Given the description of an element on the screen output the (x, y) to click on. 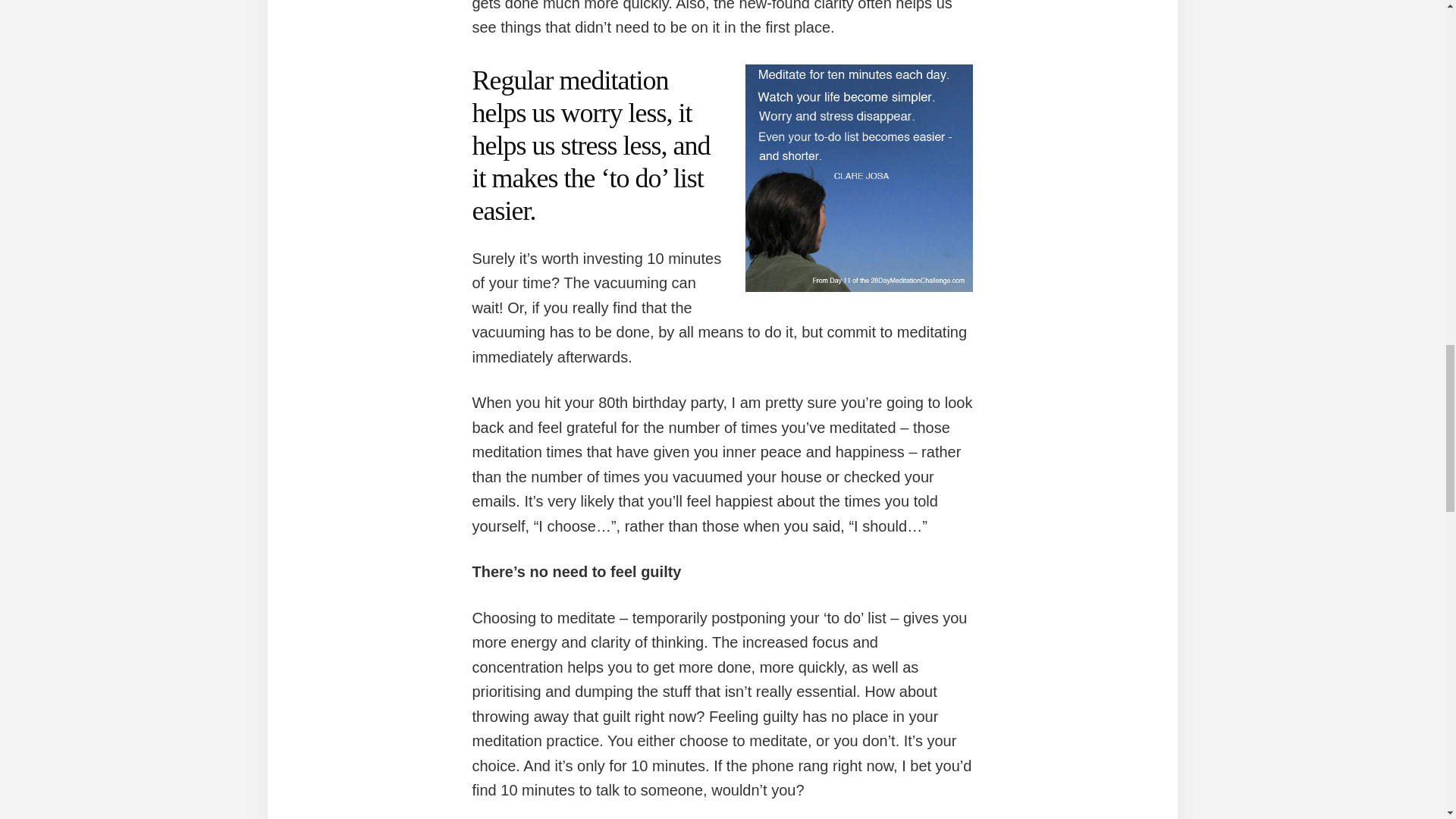
Surely meditation is worth 10 minutes of your time? (858, 177)
